Given the description of an element on the screen output the (x, y) to click on. 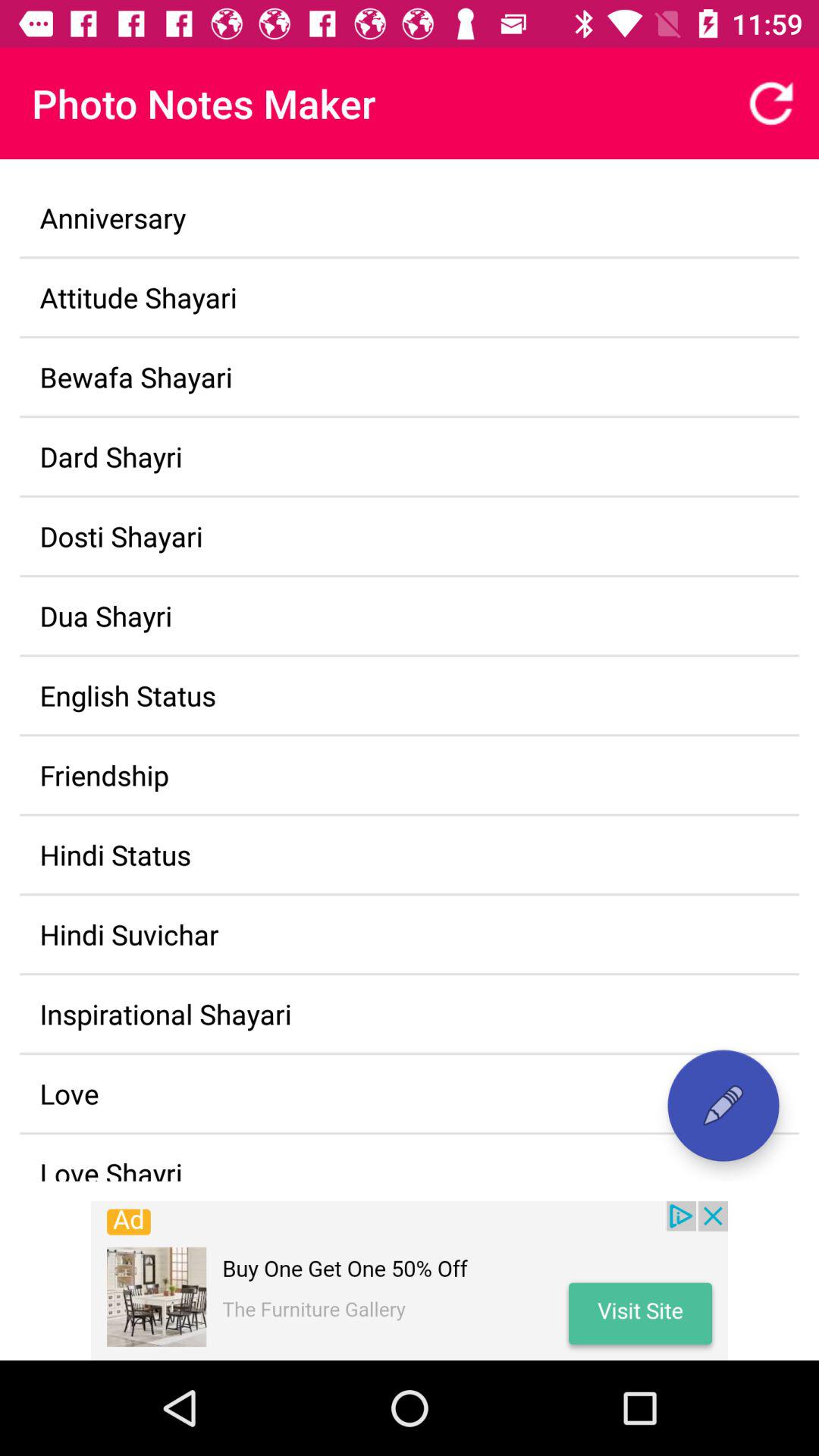
create note (723, 1105)
